Given the description of an element on the screen output the (x, y) to click on. 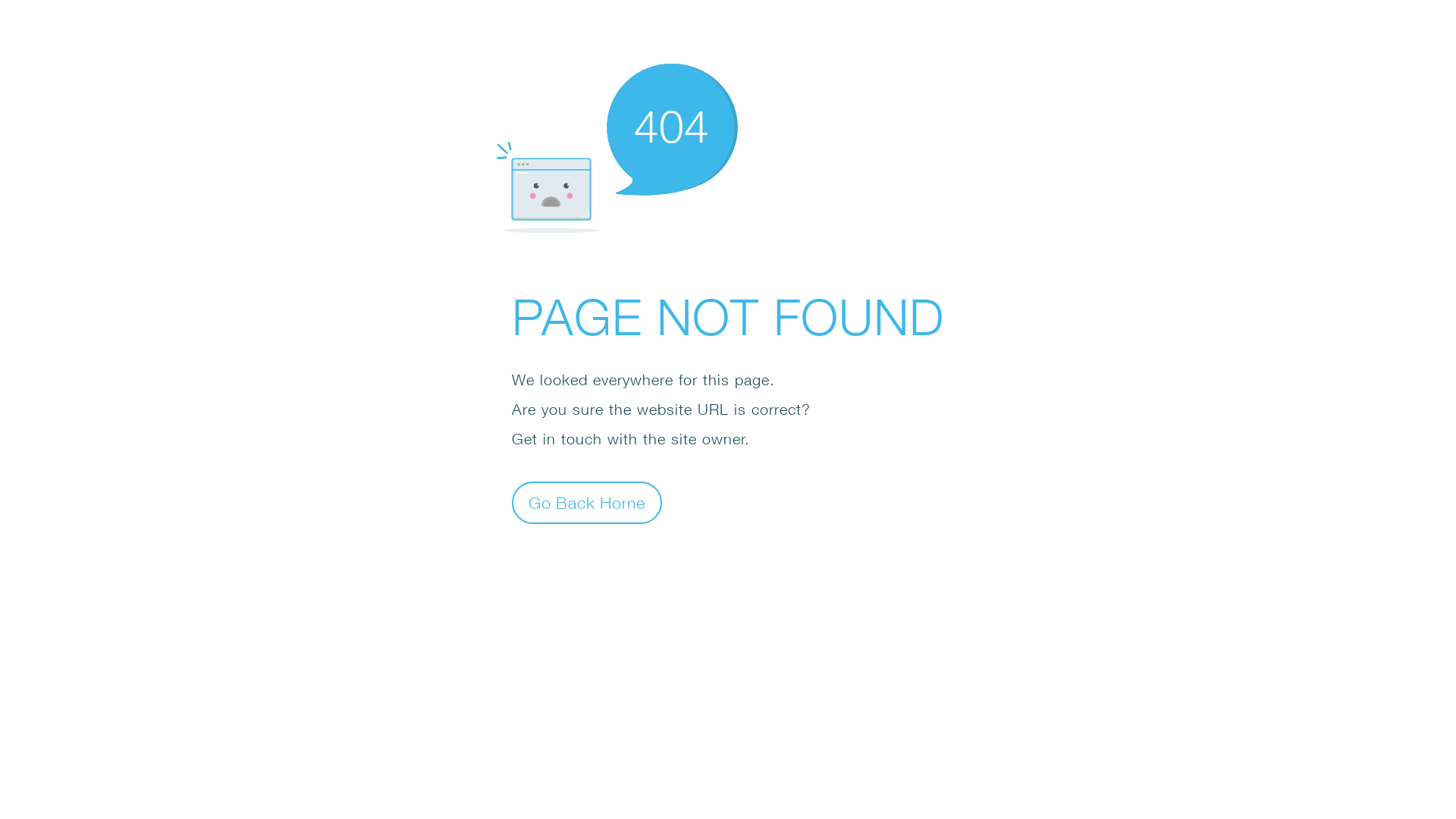
Go Back Home Element type: text (586, 502)
